Given the description of an element on the screen output the (x, y) to click on. 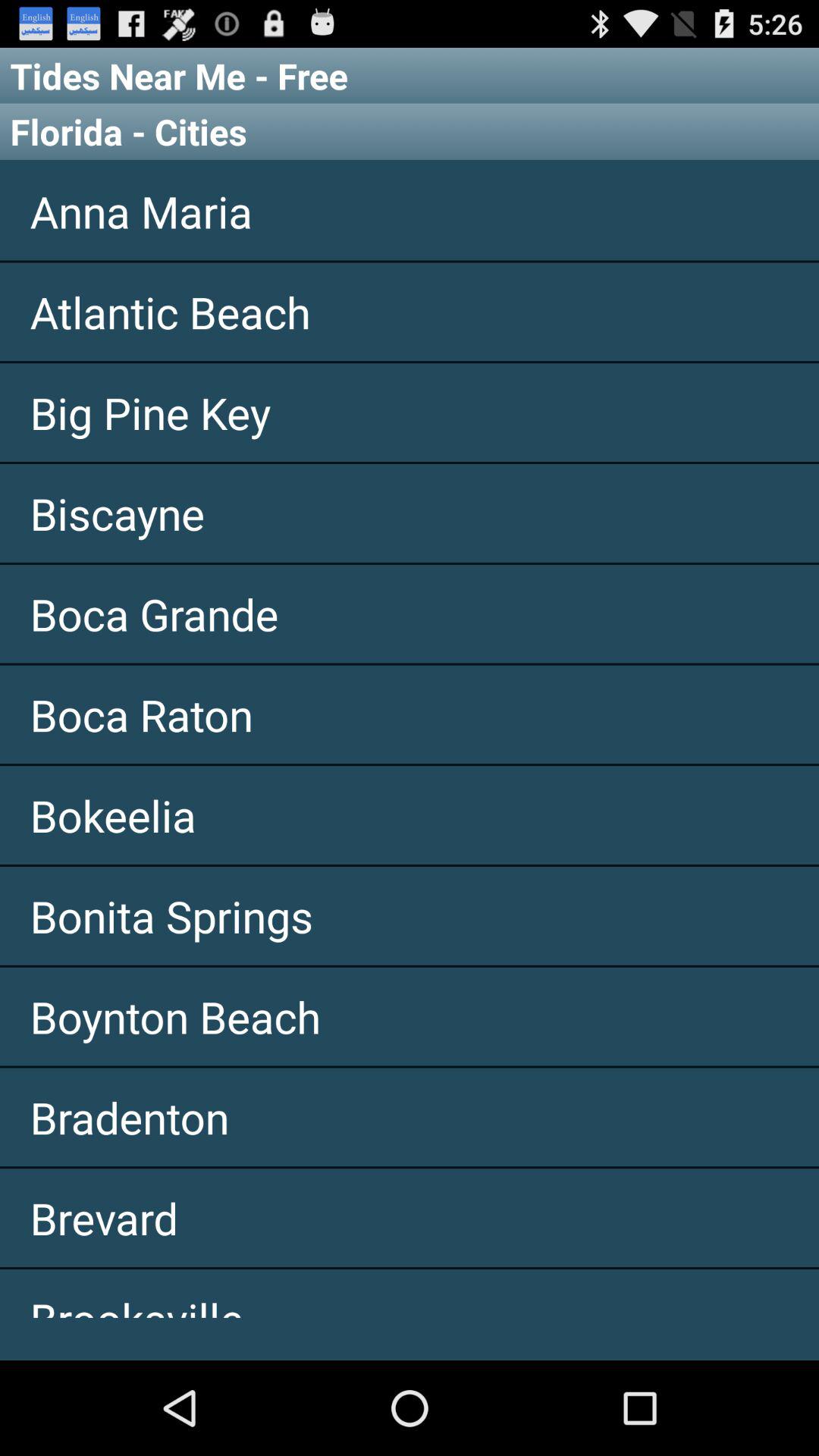
press the app below the bonita springs (409, 1016)
